Given the description of an element on the screen output the (x, y) to click on. 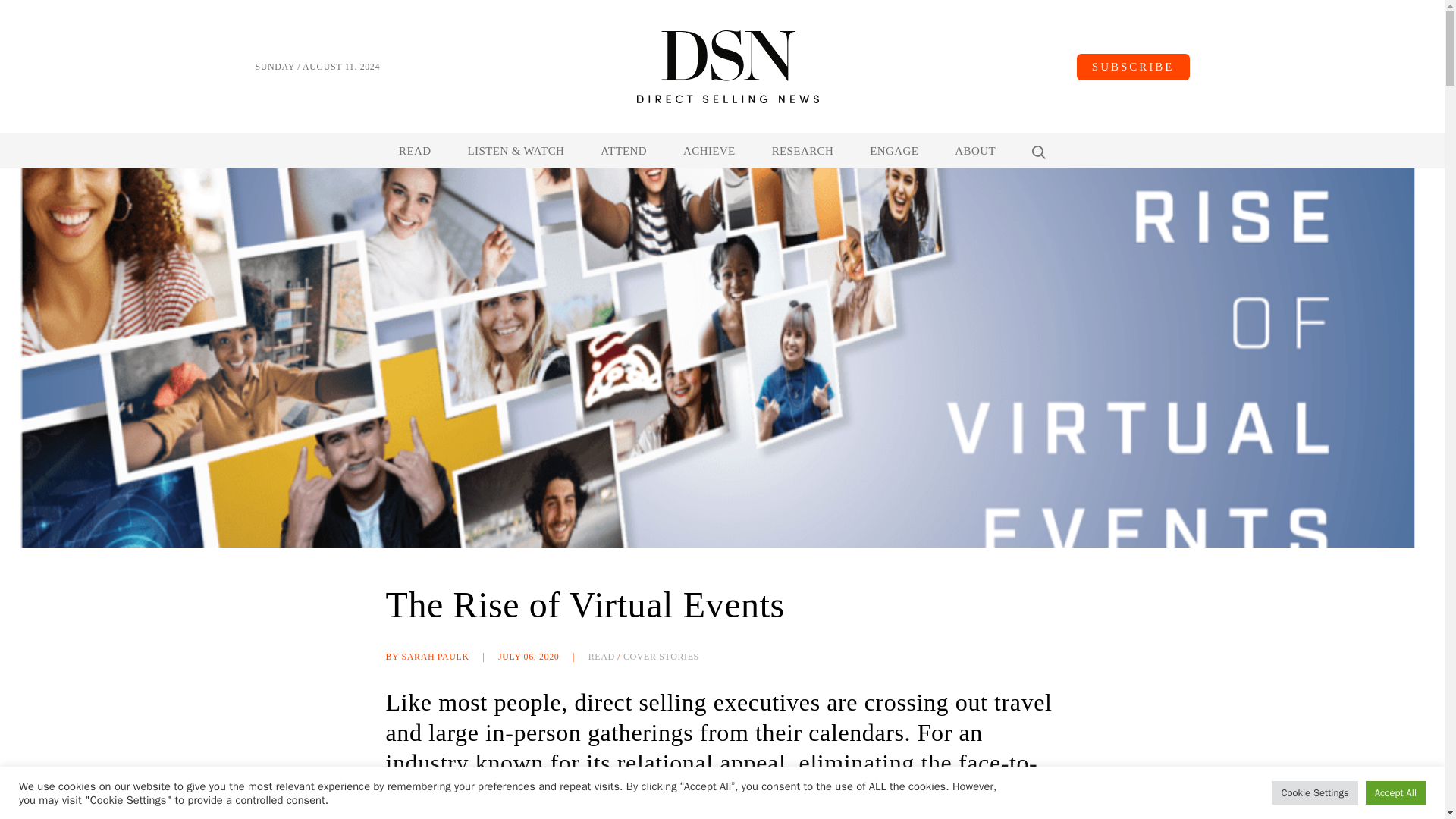
SUBSCRIBE (1133, 66)
RESEARCH (802, 150)
ACHIEVE (708, 150)
READ (414, 150)
ATTEND (622, 150)
